Given the description of an element on the screen output the (x, y) to click on. 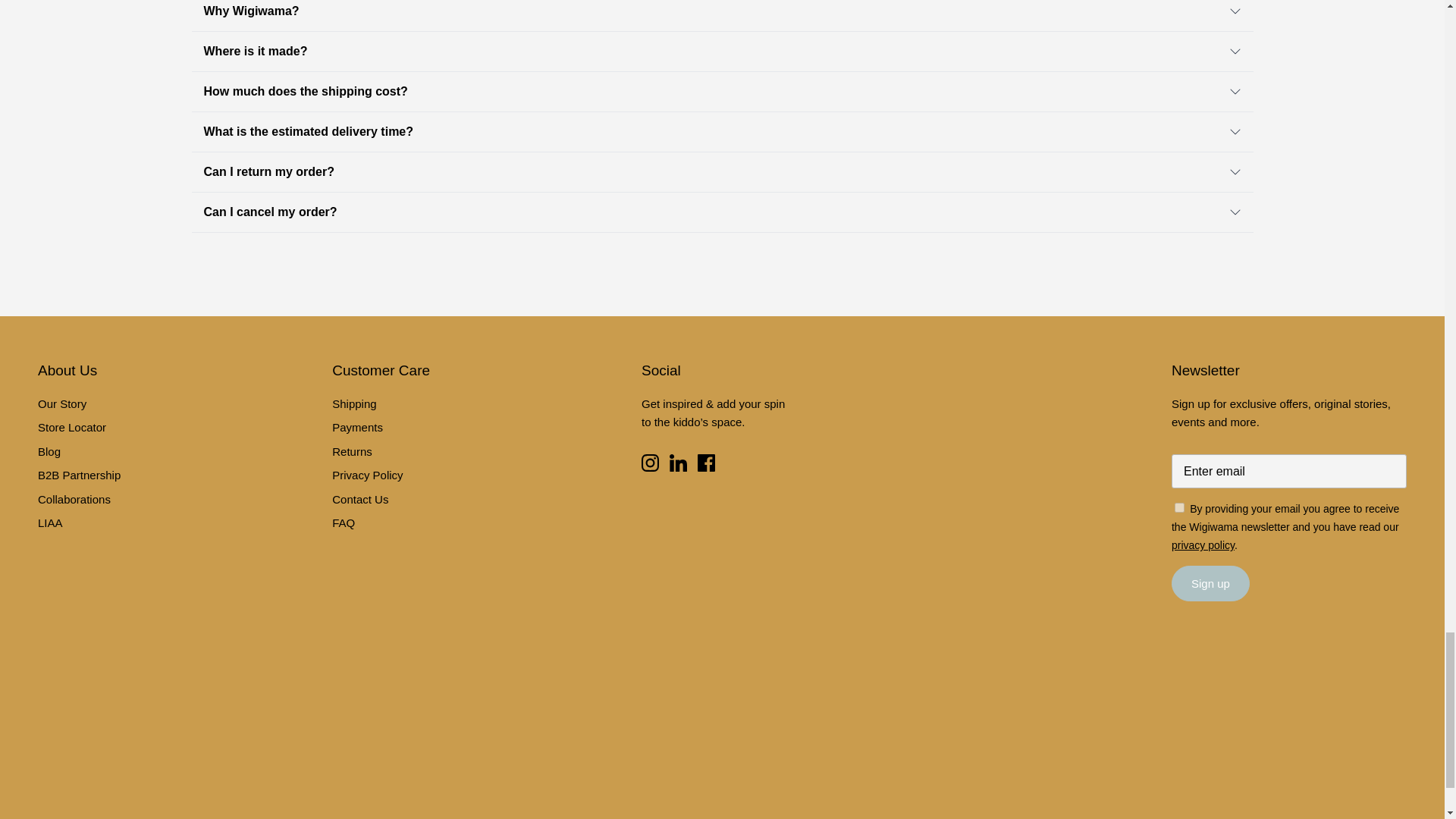
on (1179, 507)
Instagram (650, 462)
Facebook (705, 462)
